Given the description of an element on the screen output the (x, y) to click on. 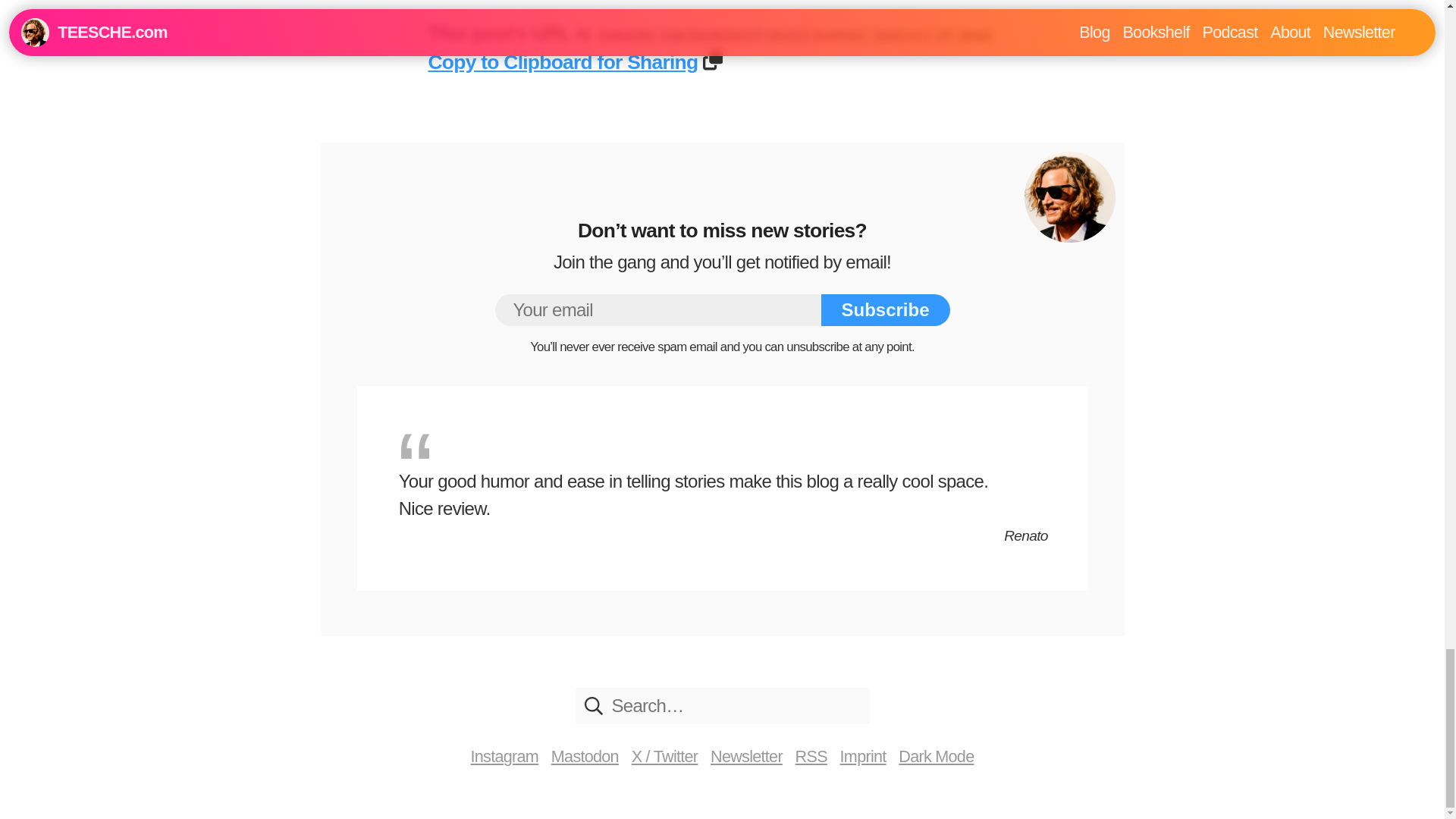
Follow me on Mastodon (584, 756)
Mastodon (584, 756)
Newsletter (746, 756)
Subscribe (885, 309)
Follow on Instagram (504, 756)
Add the RSS Feed to your Reader (810, 756)
Subscribe to the Newsletter (746, 756)
RSS (810, 756)
Imprint (863, 756)
Instagram (504, 756)
Copy to Clipboard for Sharing (562, 61)
